Given the description of an element on the screen output the (x, y) to click on. 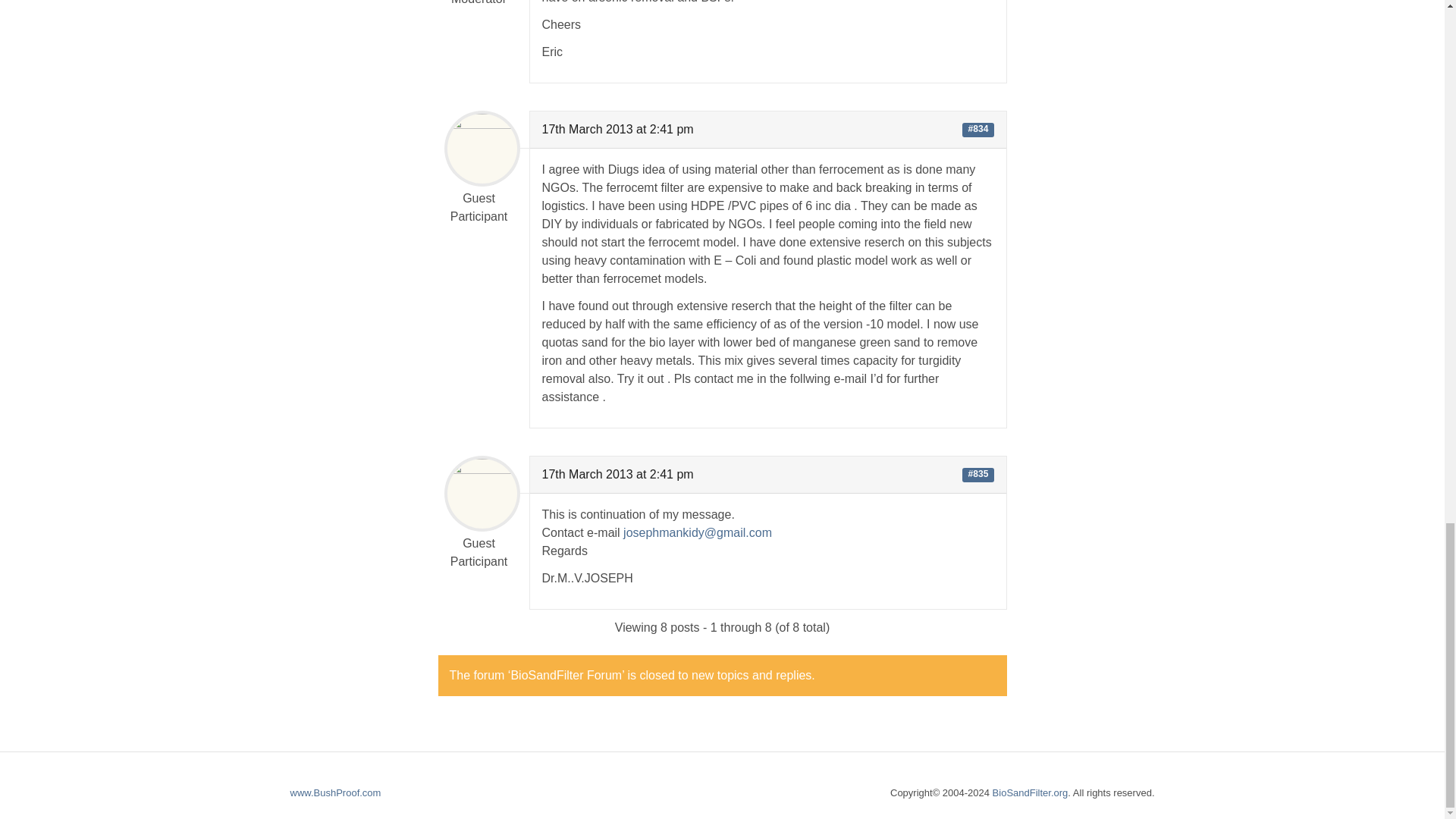
www.BushProof.com (334, 792)
BioSandFilter.org (1030, 792)
